Given the description of an element on the screen output the (x, y) to click on. 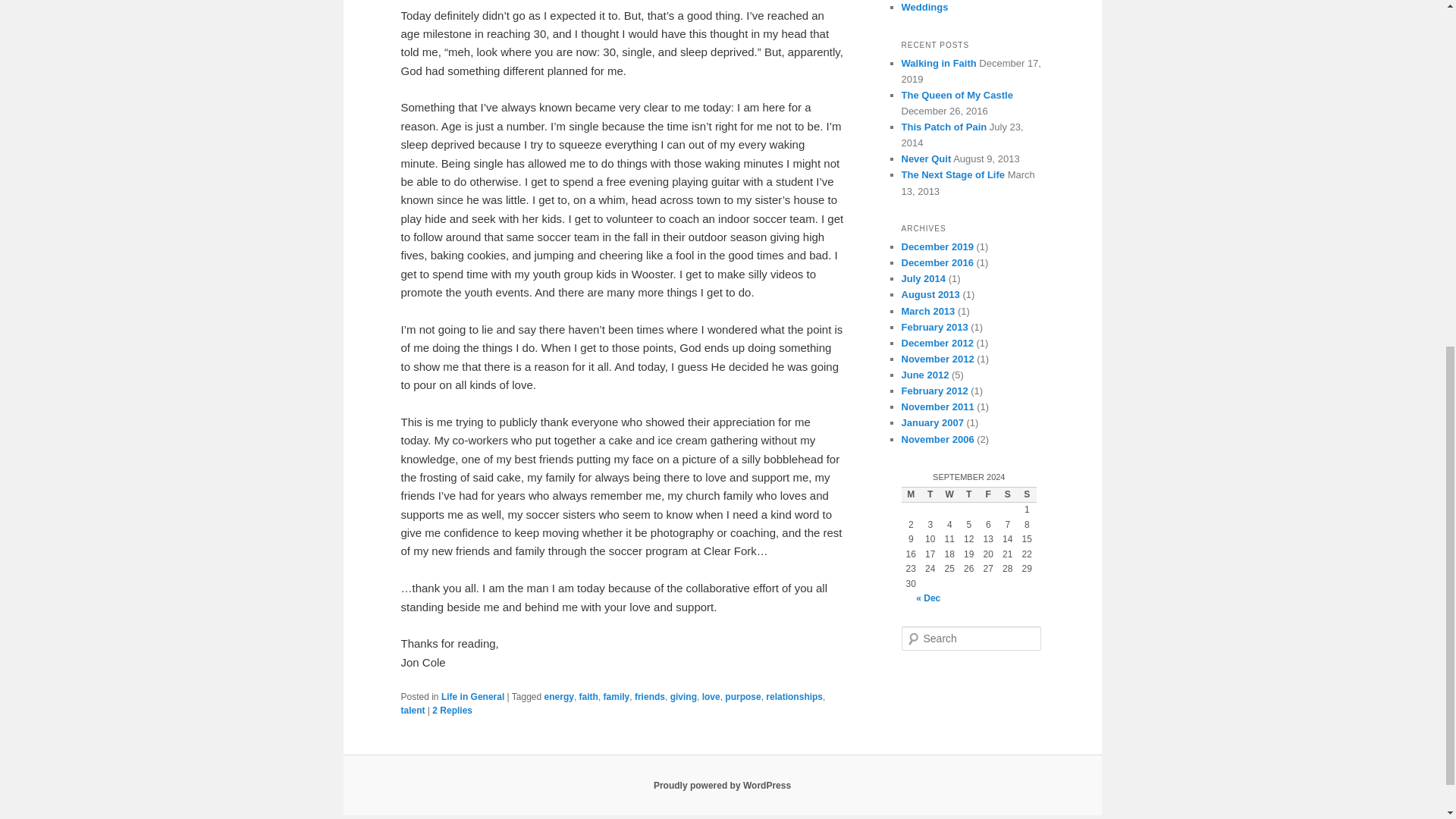
Never Quit (925, 158)
The Next Stage of Life (952, 174)
friends (649, 696)
giving (683, 696)
Semantic Personal Publishing Platform (721, 785)
Thursday (968, 494)
purpose (742, 696)
Sunday (1026, 494)
This Patch of Pain (944, 126)
talent (412, 710)
